Given the description of an element on the screen output the (x, y) to click on. 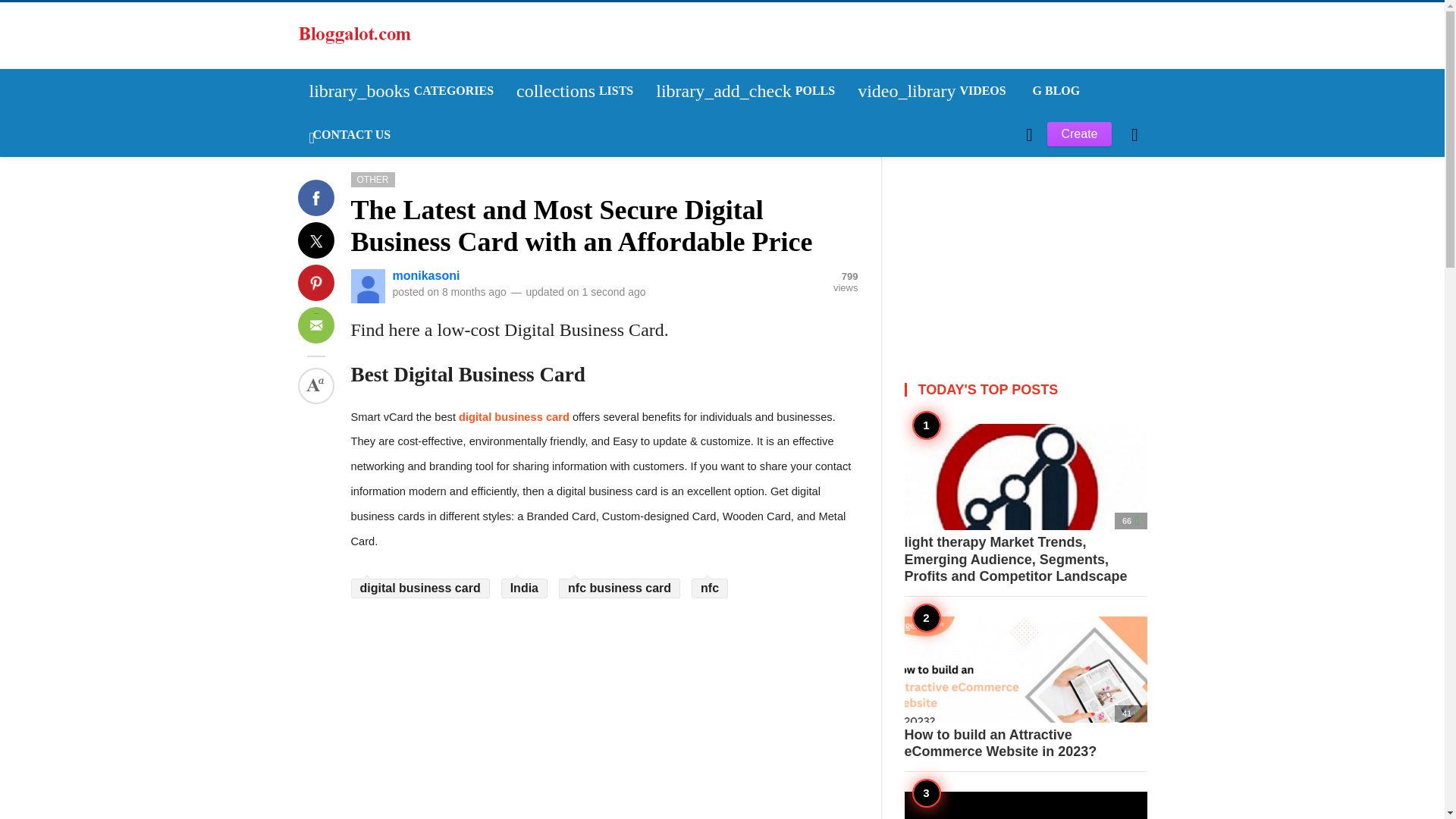
digital business card (419, 588)
G BLOG (1054, 90)
Log in (329, 235)
OTHER (372, 179)
digital business card (513, 417)
Create (1078, 134)
Advertisement (603, 712)
monikasoni (426, 275)
Advertisement (1025, 251)
How to build an Attractive eCommerce Website in 2023? (1025, 687)
CONTACT US (349, 135)
sign up (331, 235)
